Given the description of an element on the screen output the (x, y) to click on. 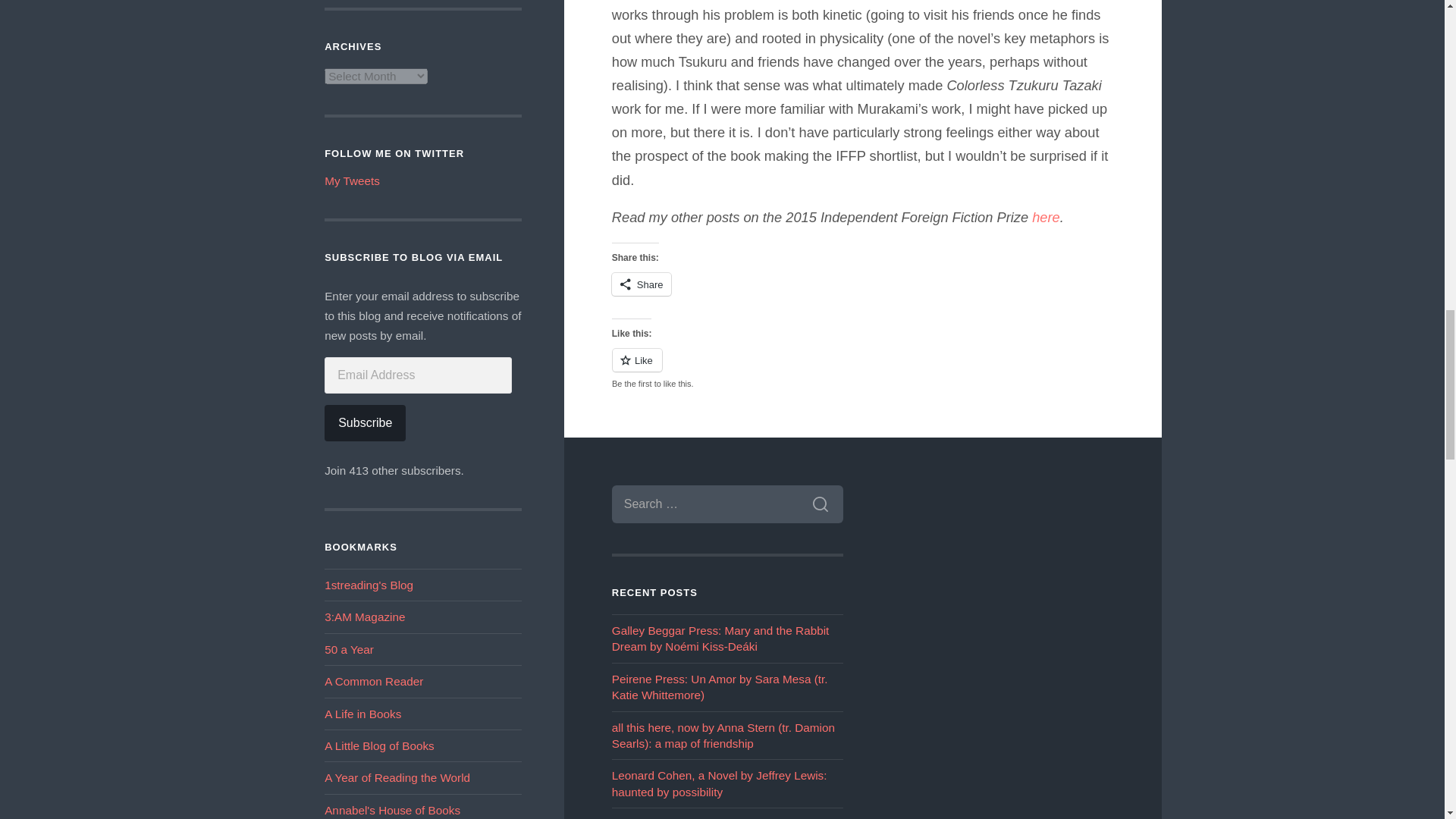
Like or Reblog (863, 368)
Search (820, 504)
Search (820, 504)
